Given the description of an element on the screen output the (x, y) to click on. 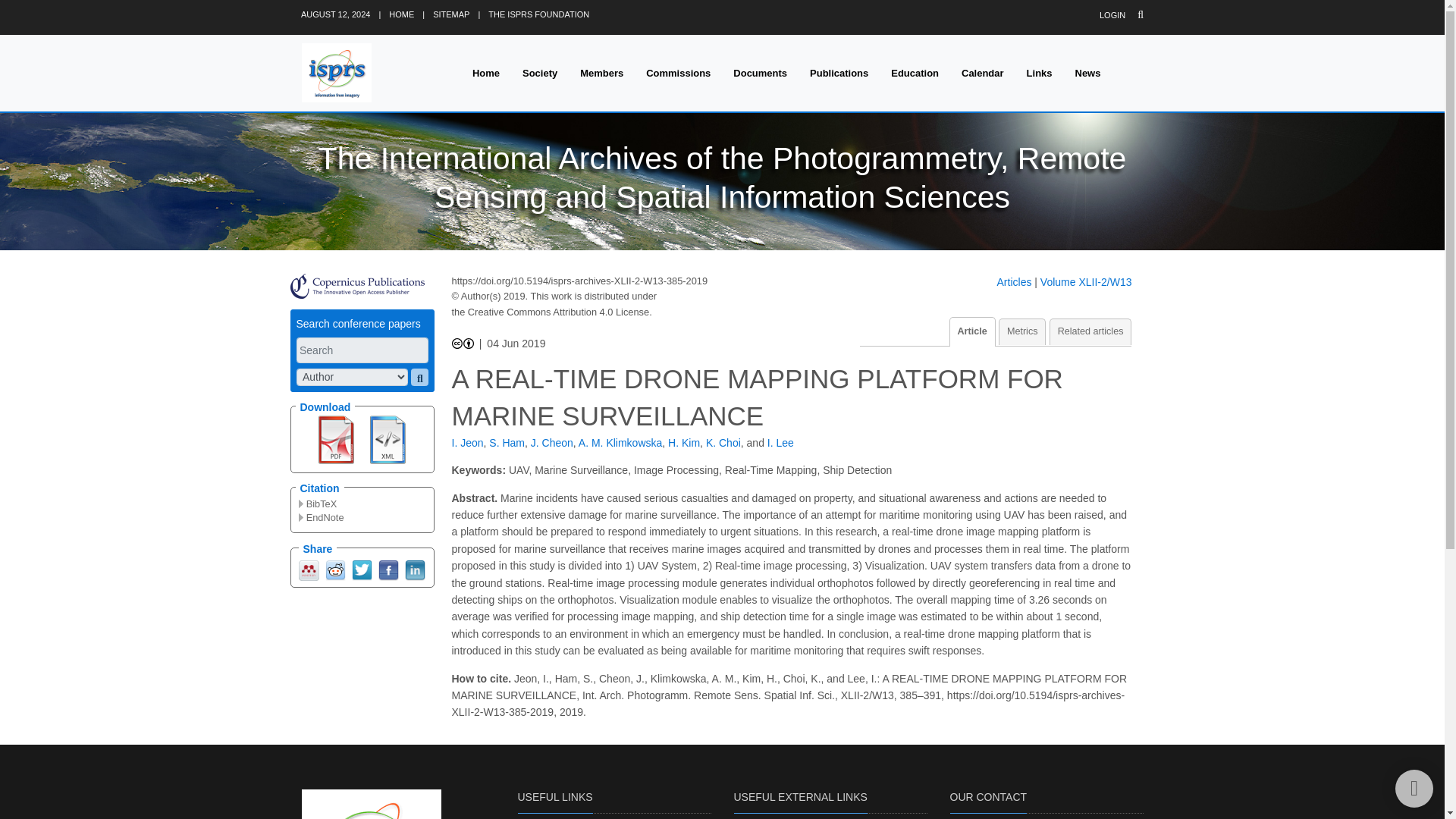
HOME (400, 13)
LOGIN (1112, 14)
SITEMAP (450, 13)
Home (485, 73)
Society (539, 73)
THE ISPRS FOUNDATION (538, 13)
